Given the description of an element on the screen output the (x, y) to click on. 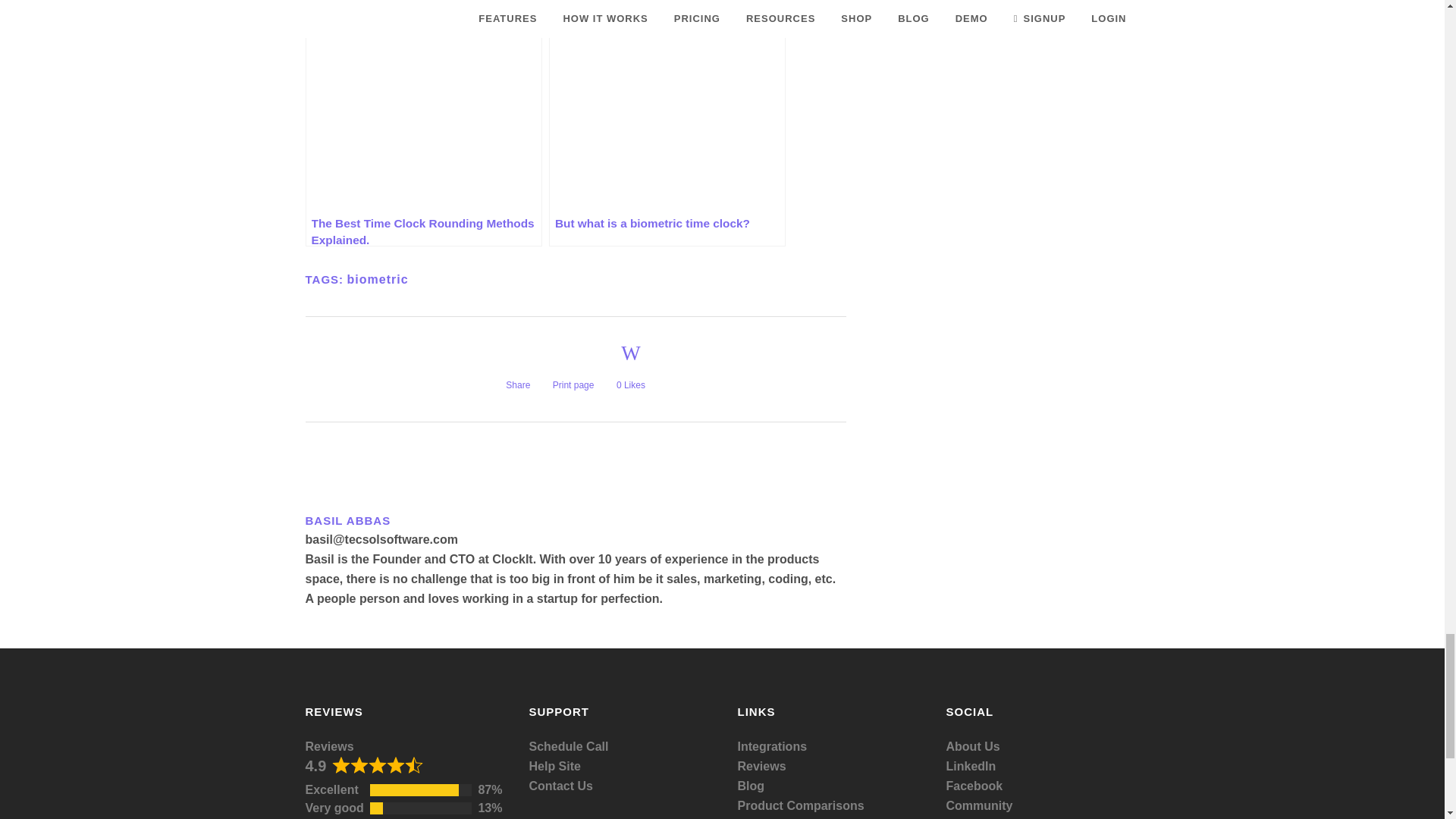
Like this (630, 368)
The Best Time Clock Rounding Methods Explained. (422, 123)
But what is a biometric time clock? (667, 123)
